Given the description of an element on the screen output the (x, y) to click on. 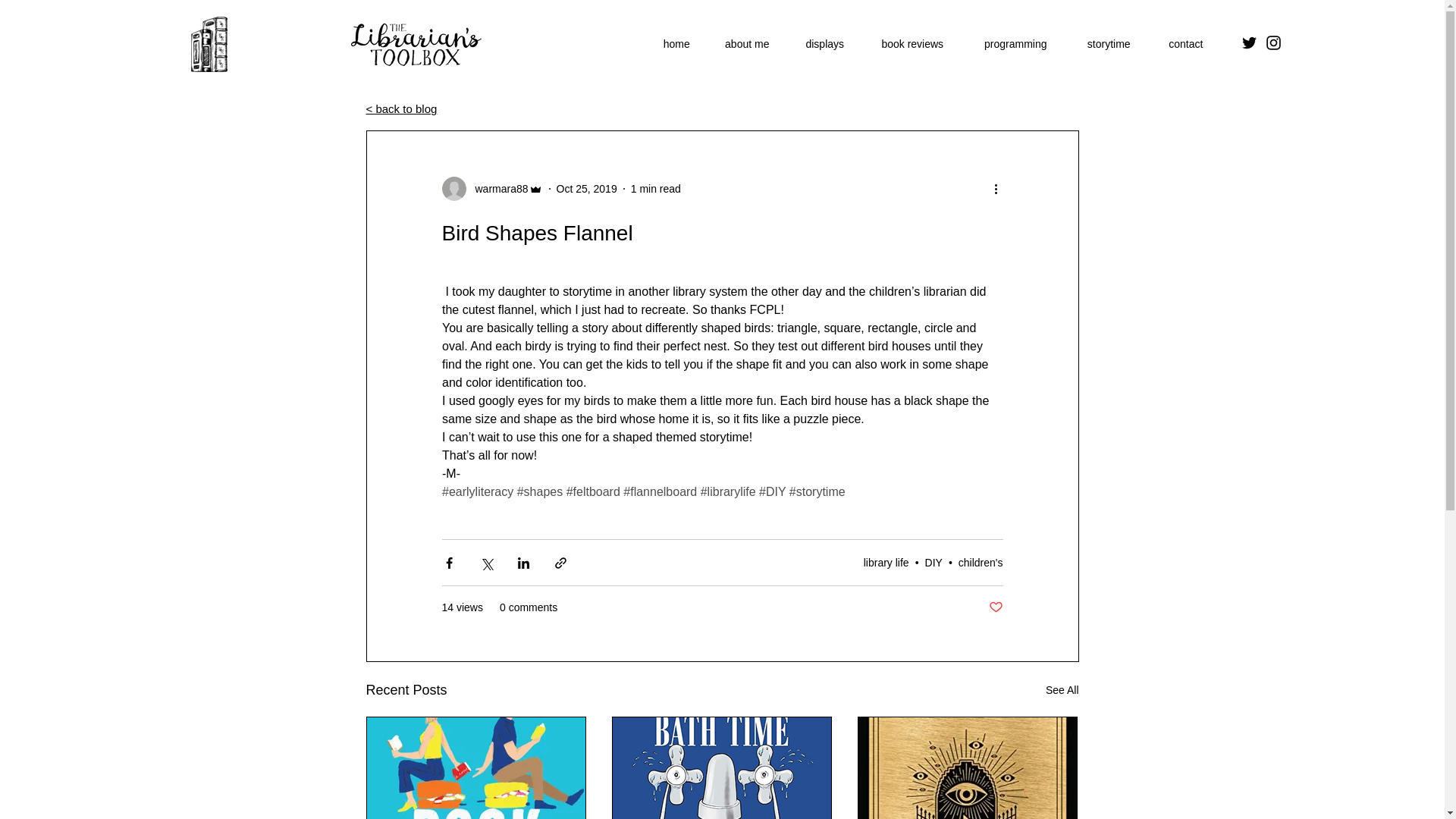
library life (885, 562)
contact (1185, 44)
1 min read (655, 187)
home (676, 44)
See All (1061, 690)
about me (746, 44)
displays (824, 44)
DIY (933, 562)
book reviews (911, 44)
children's (980, 562)
warmara88 (496, 188)
Post not marked as liked (995, 607)
programming (1014, 44)
Oct 25, 2019 (586, 187)
storytime (1108, 44)
